Given the description of an element on the screen output the (x, y) to click on. 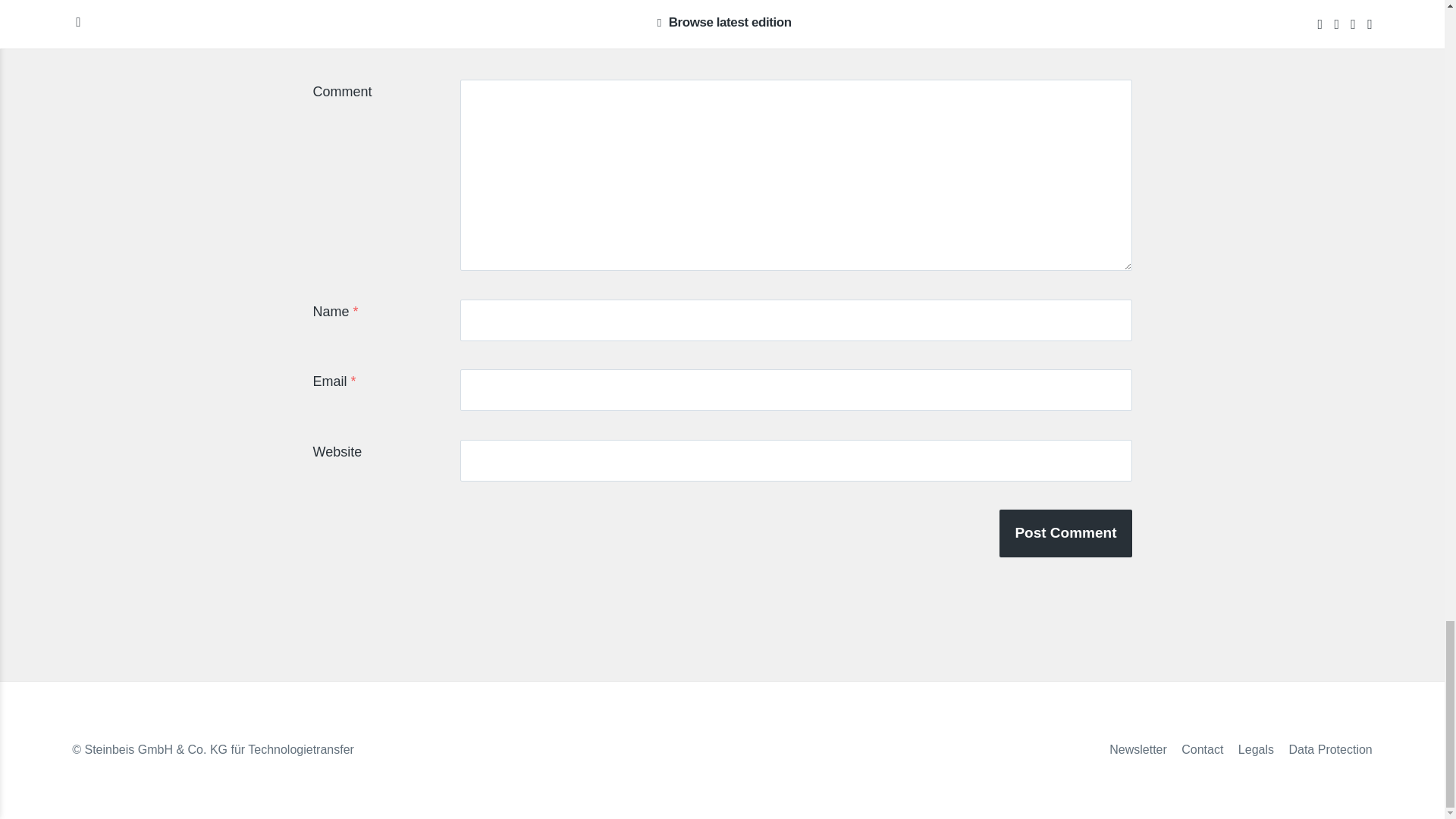
Post Comment (1064, 532)
